Given the description of an element on the screen output the (x, y) to click on. 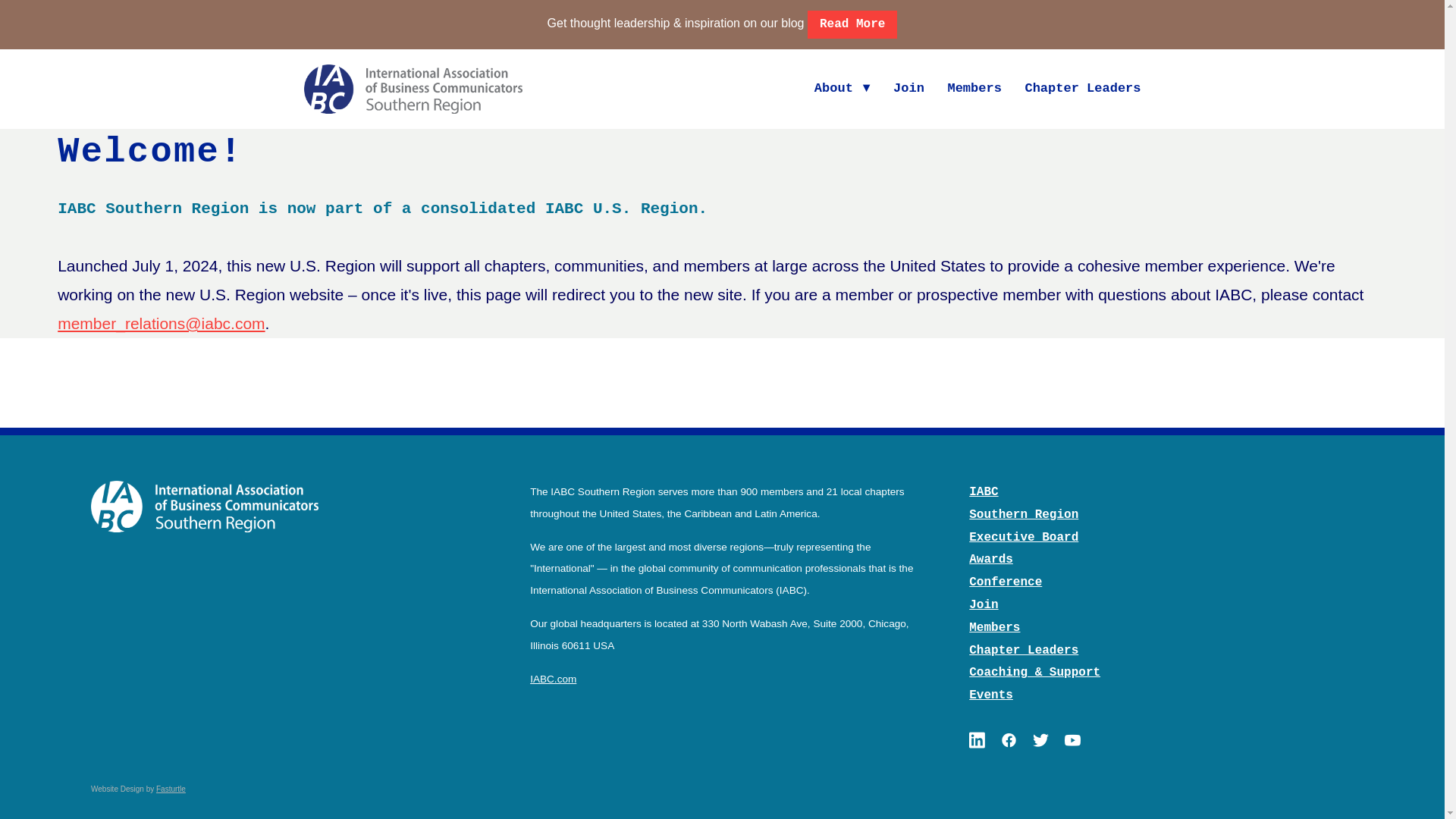
Join (908, 89)
Awards (991, 559)
Read More (852, 24)
Executive Board (1023, 537)
Website Design by Fasturtle (138, 788)
Events (991, 694)
Southern Region (1023, 514)
Chapter Leaders (1023, 650)
Members (994, 627)
Members (974, 89)
